Given the description of an element on the screen output the (x, y) to click on. 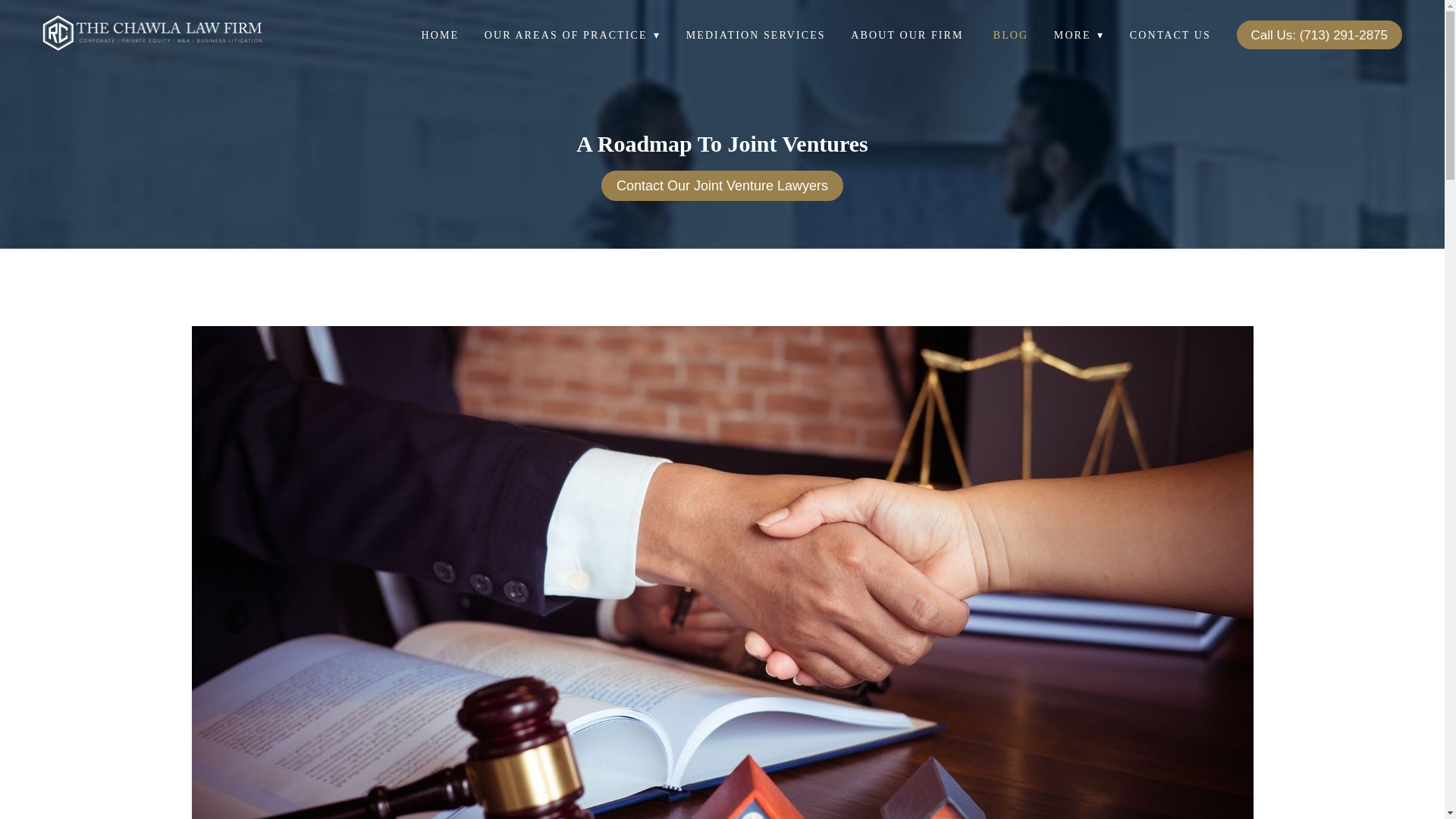
HOME (441, 34)
Contact Our Joint Venture Lawyers (722, 185)
ABOUT OUR FIRM  (909, 34)
CONTACT US (1170, 34)
MEDIATION SERVICES (755, 34)
BLOG (1010, 34)
The Chawla Law Firm (152, 35)
